Given the description of an element on the screen output the (x, y) to click on. 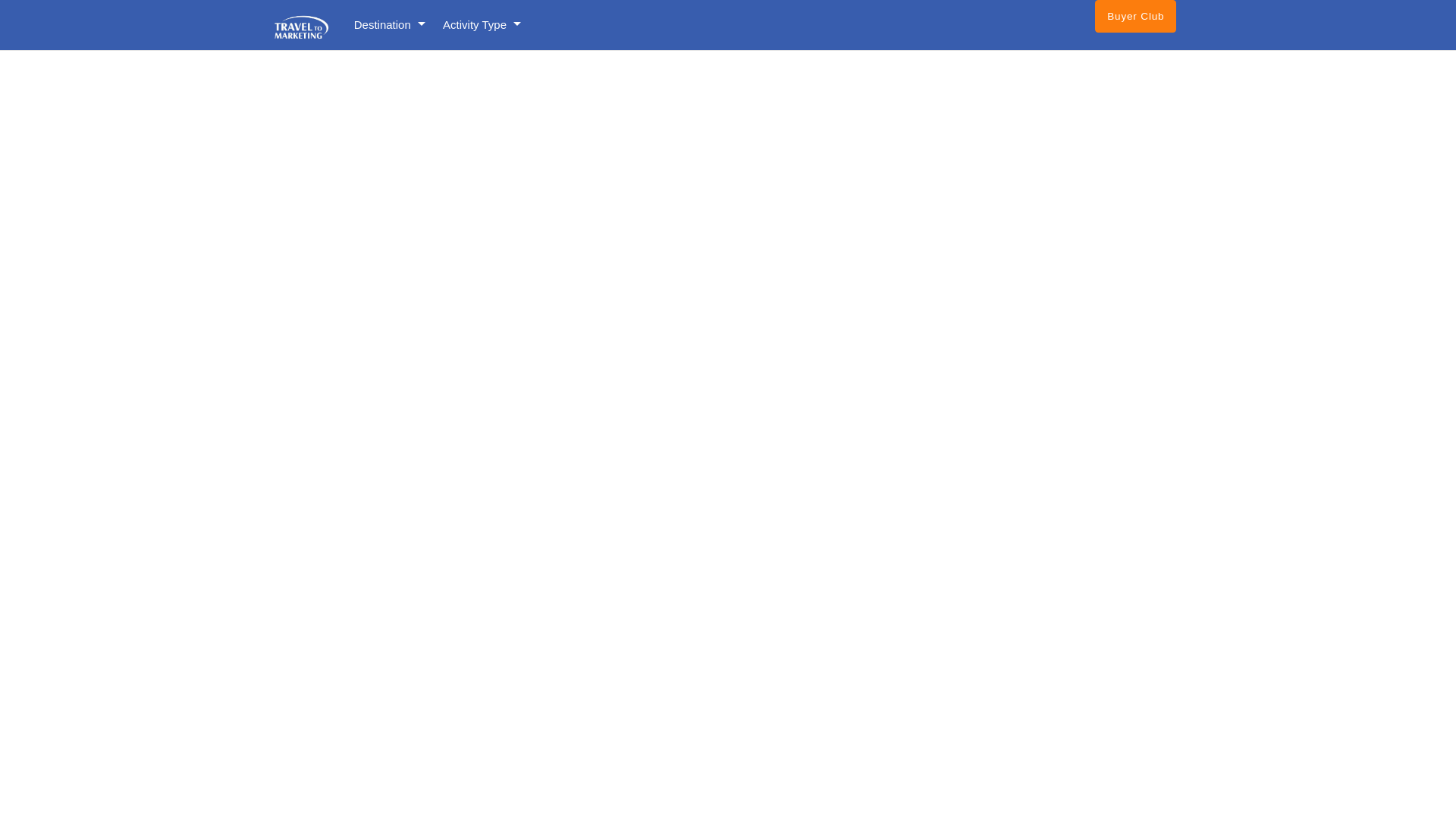
Destination (389, 24)
